Given the description of an element on the screen output the (x, y) to click on. 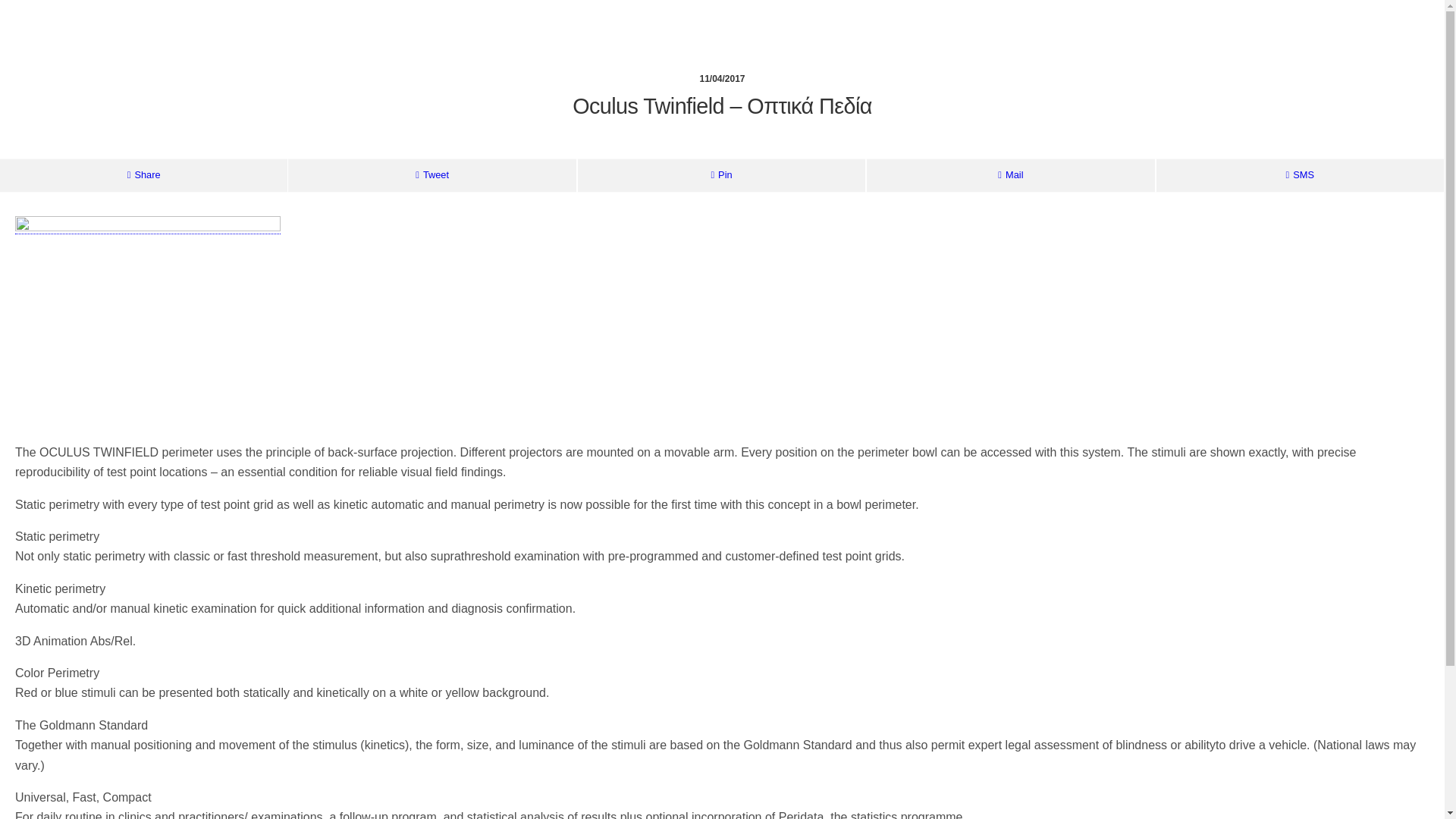
Mail (1010, 174)
Search (1230, 54)
Share (143, 174)
Tweet (431, 174)
Pin (721, 174)
